Given the description of an element on the screen output the (x, y) to click on. 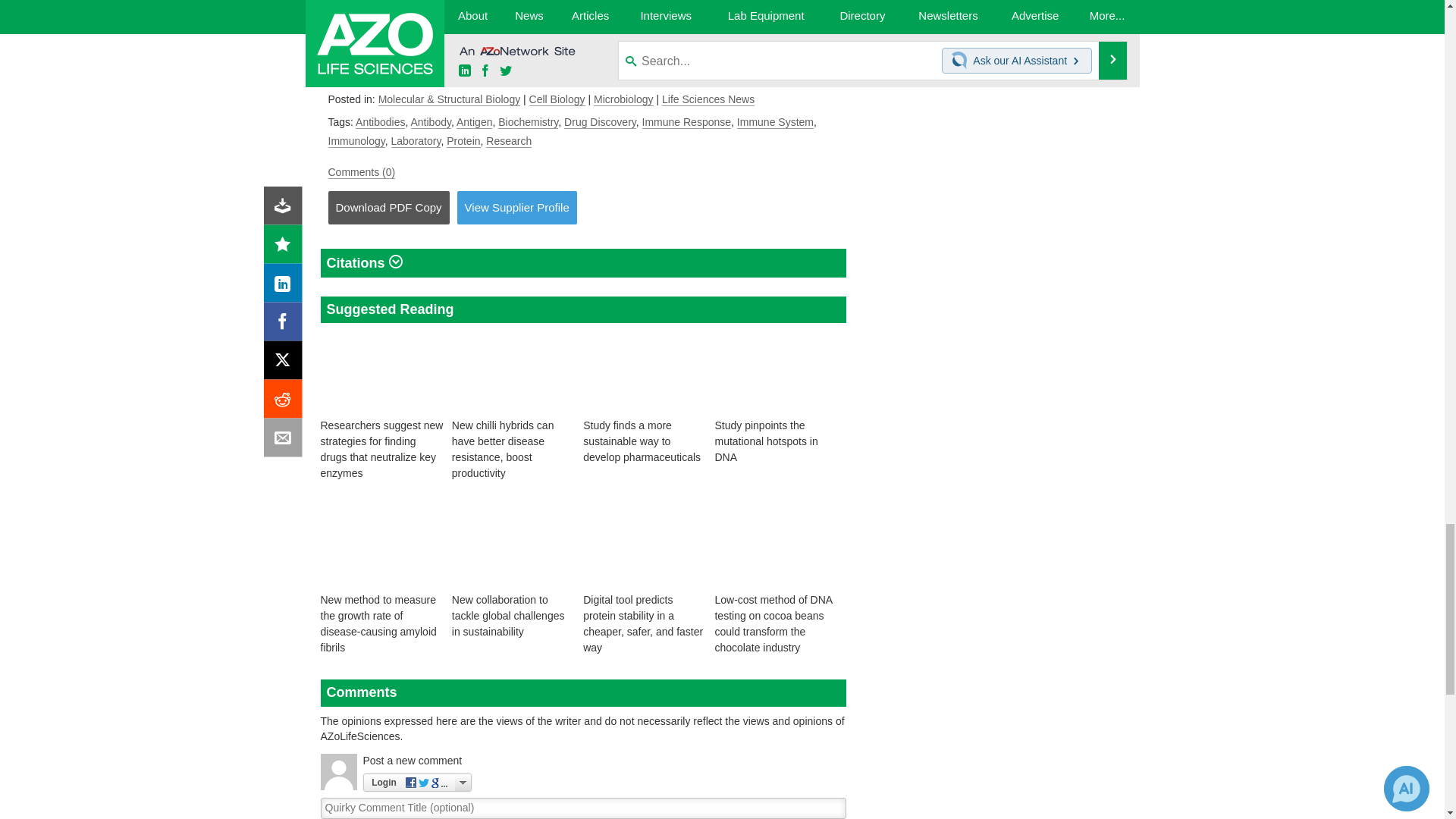
Rate this 4 stars out of 5 (609, 49)
Rate this 5 stars out of 5 (636, 49)
